Given the description of an element on the screen output the (x, y) to click on. 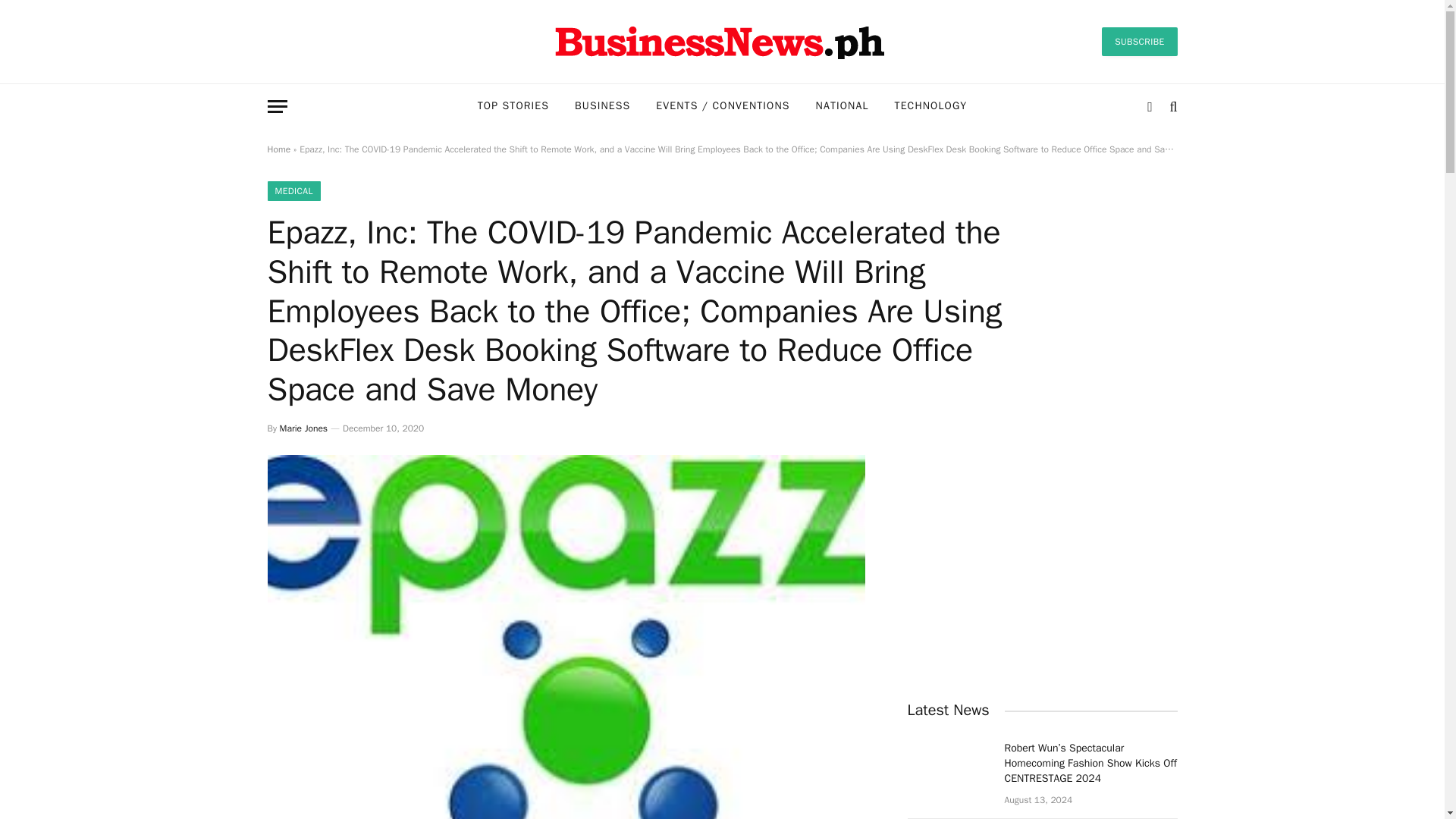
Posts by Marie Jones (304, 428)
Marie Jones (304, 428)
TOP STORIES (513, 106)
SUBSCRIBE (1139, 41)
BUSINESS (602, 106)
MEDICAL (293, 190)
Switch to Dark Design - easier on eyes. (1149, 106)
TECHNOLOGY (930, 106)
NATIONAL (842, 106)
